Given the description of an element on the screen output the (x, y) to click on. 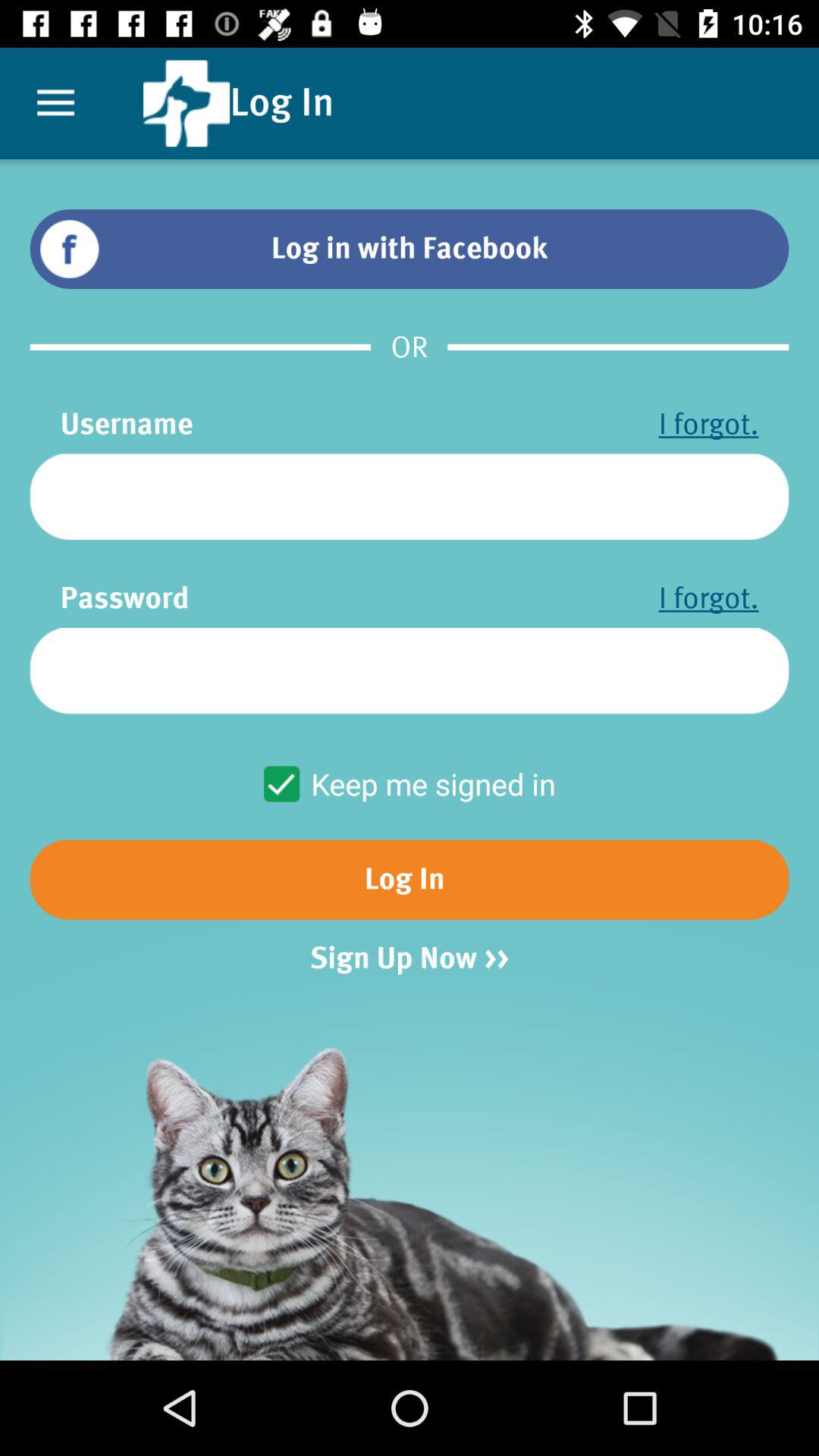
flip until sign up now >> item (409, 958)
